Given the description of an element on the screen output the (x, y) to click on. 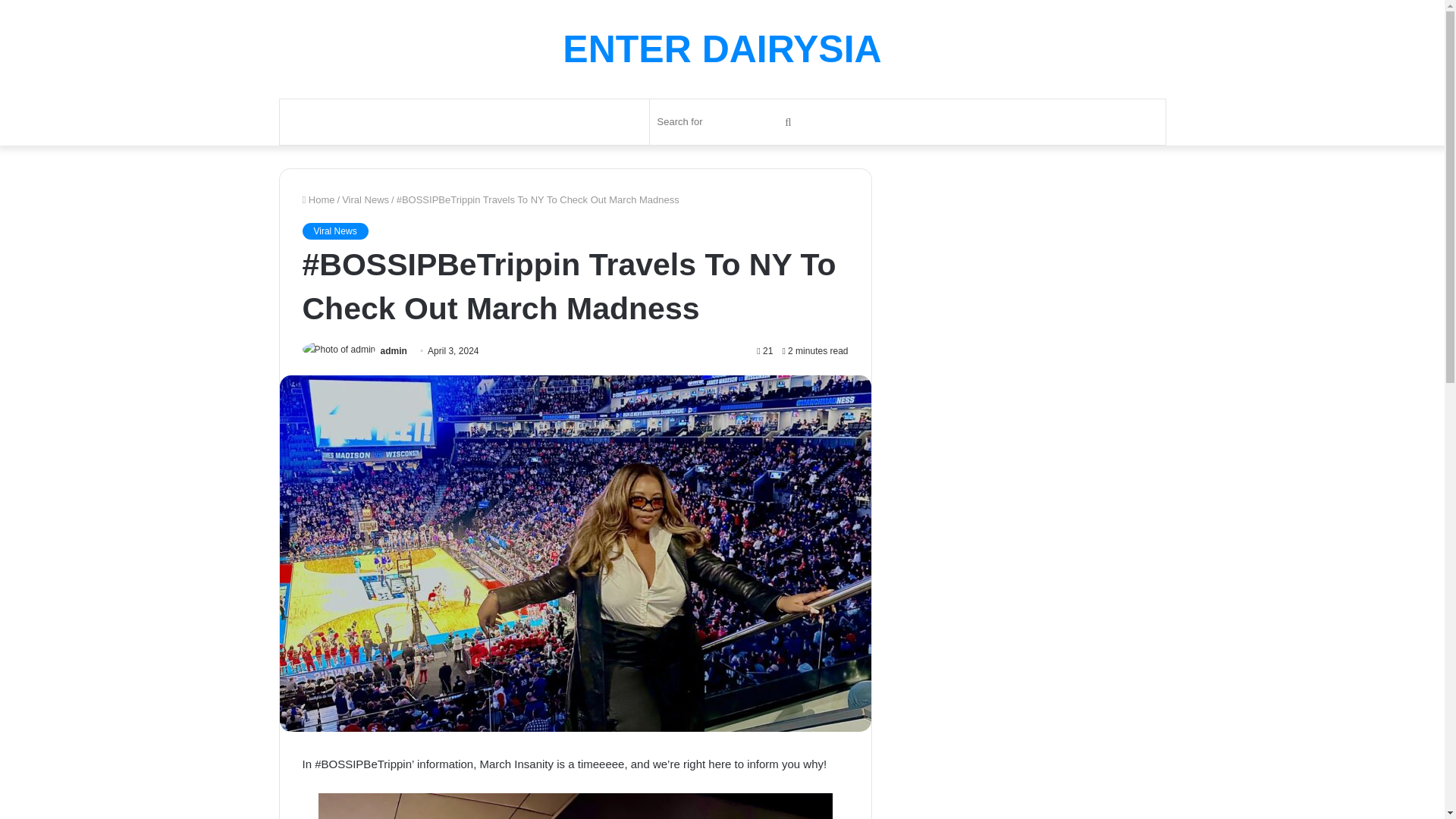
ENTER DAIRYSIA (721, 48)
Search for (726, 121)
admin (393, 350)
admin (393, 350)
Viral News (365, 199)
Viral News (334, 230)
ENTER DAIRYSIA (721, 48)
Home (317, 199)
